Given the description of an element on the screen output the (x, y) to click on. 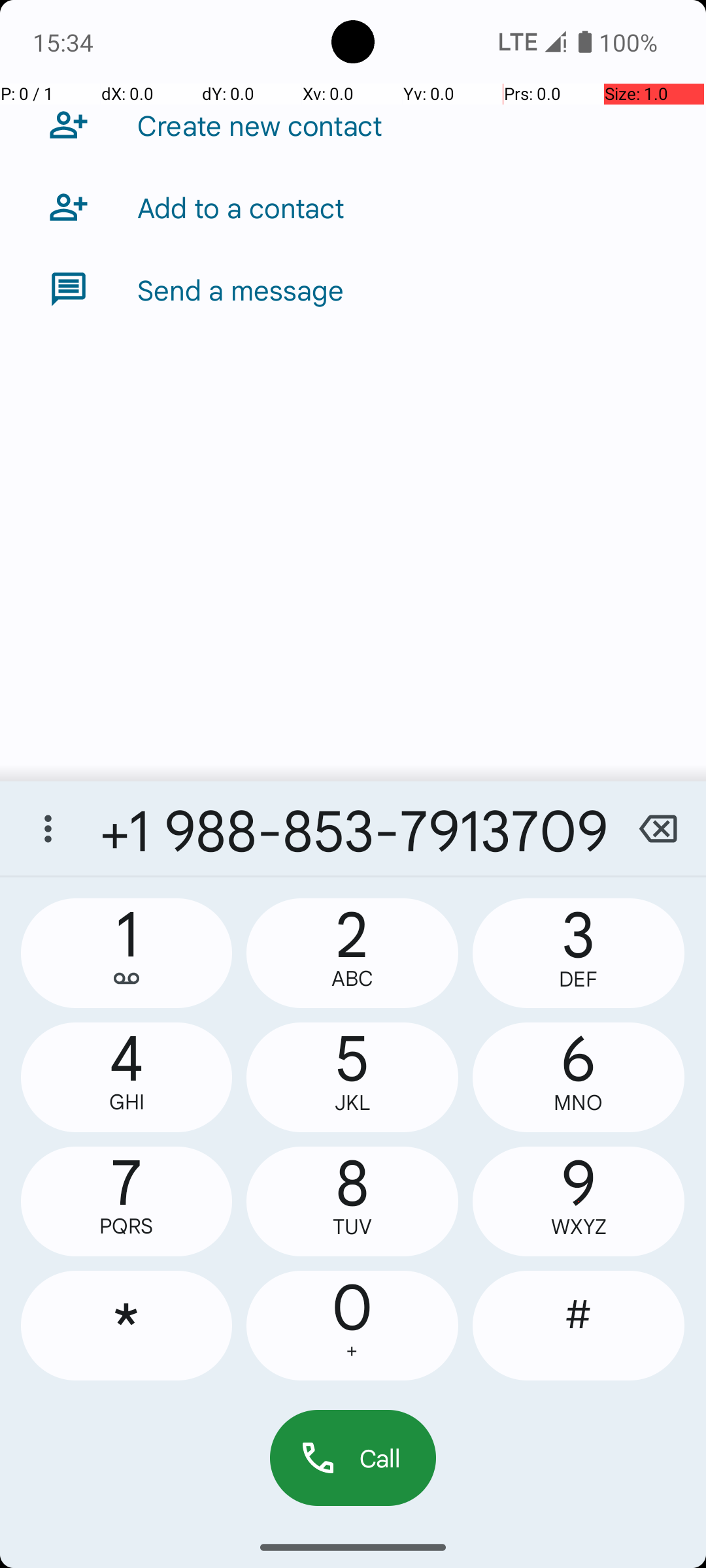
+1 988-853-7913709 Element type: android.widget.EditText (352, 828)
